Given the description of an element on the screen output the (x, y) to click on. 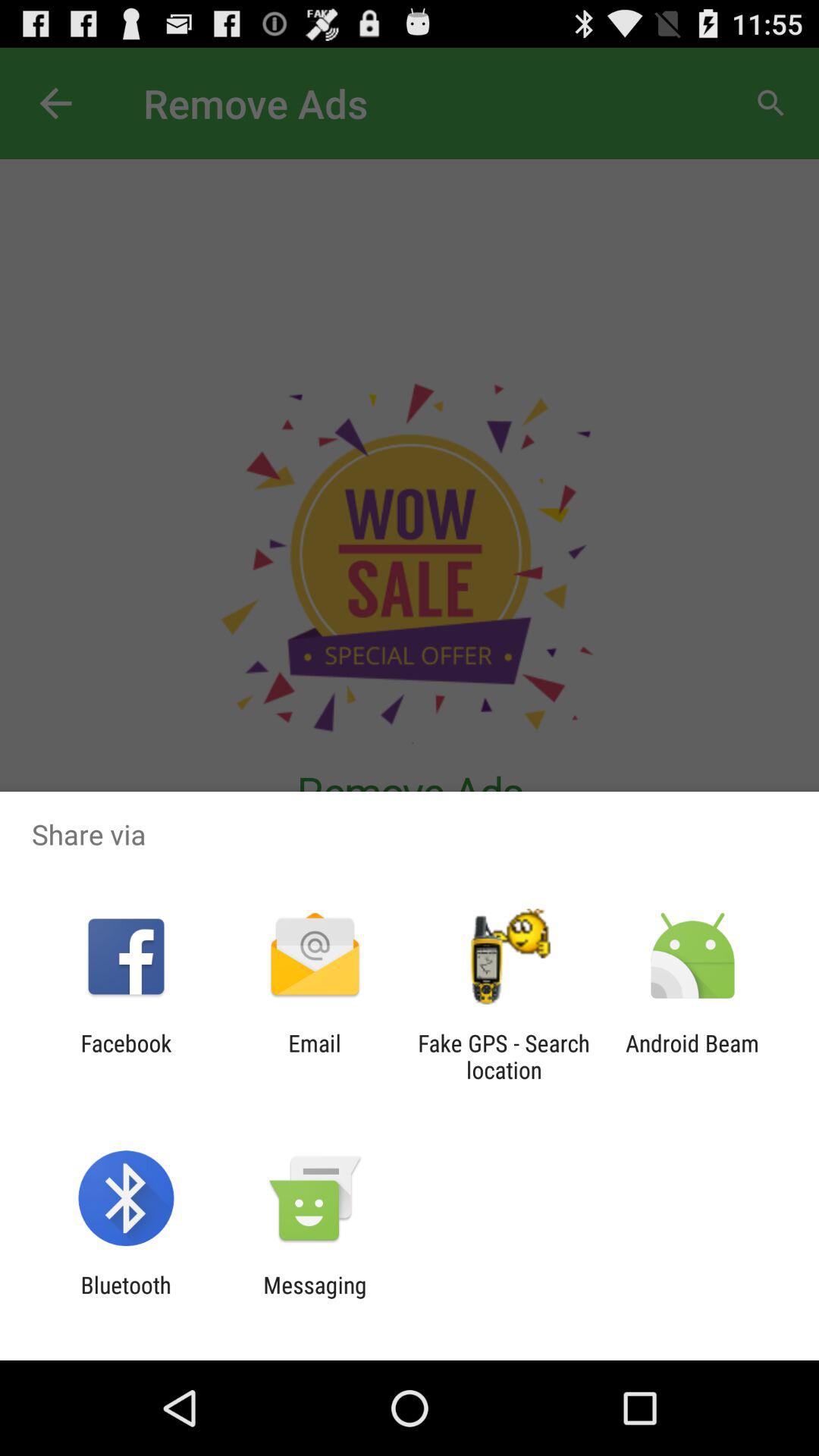
swipe until email app (314, 1056)
